Given the description of an element on the screen output the (x, y) to click on. 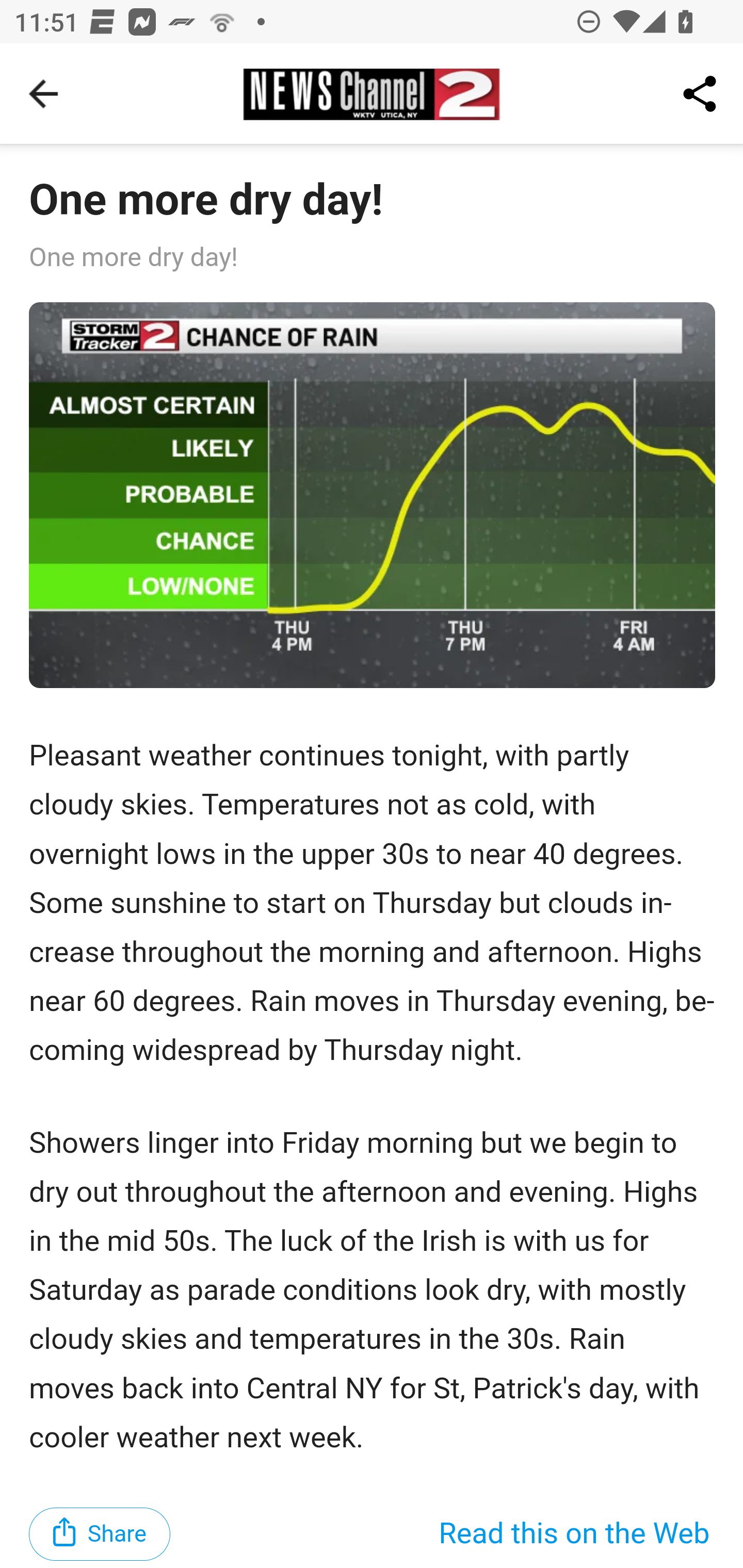
Read this on the Web (573, 1533)
Share (99, 1533)
